Given the description of an element on the screen output the (x, y) to click on. 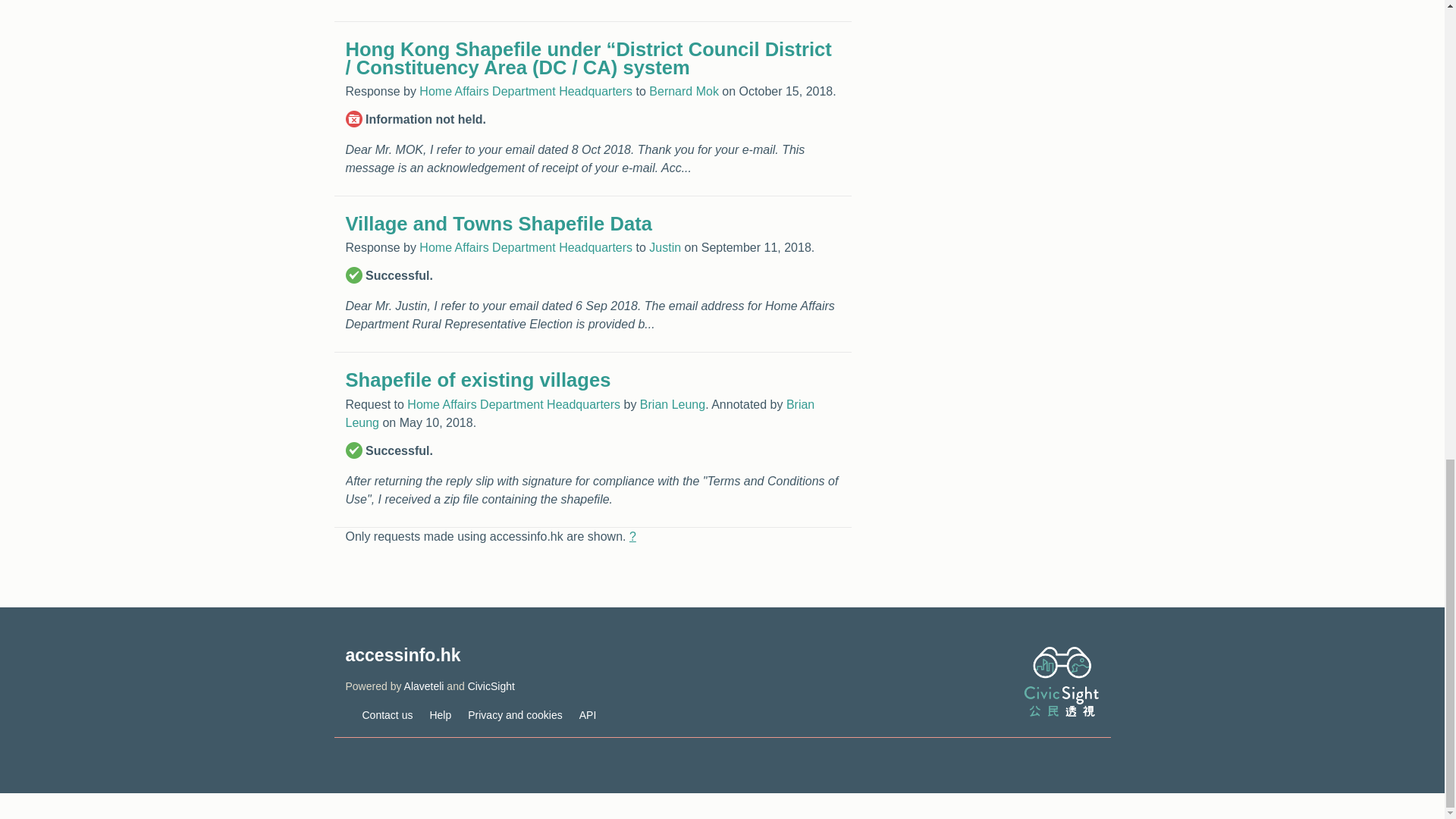
Home Affairs Department Headquarters (525, 246)
Home Affairs Department Headquarters (513, 404)
Brian Leung (580, 413)
Brian Leung (672, 404)
Justin (665, 246)
Village and Towns Shapefile Data (499, 223)
Bernard Mok (684, 91)
Home Affairs Department Headquarters (525, 91)
Shapefile of existing villages (478, 379)
